Given the description of an element on the screen output the (x, y) to click on. 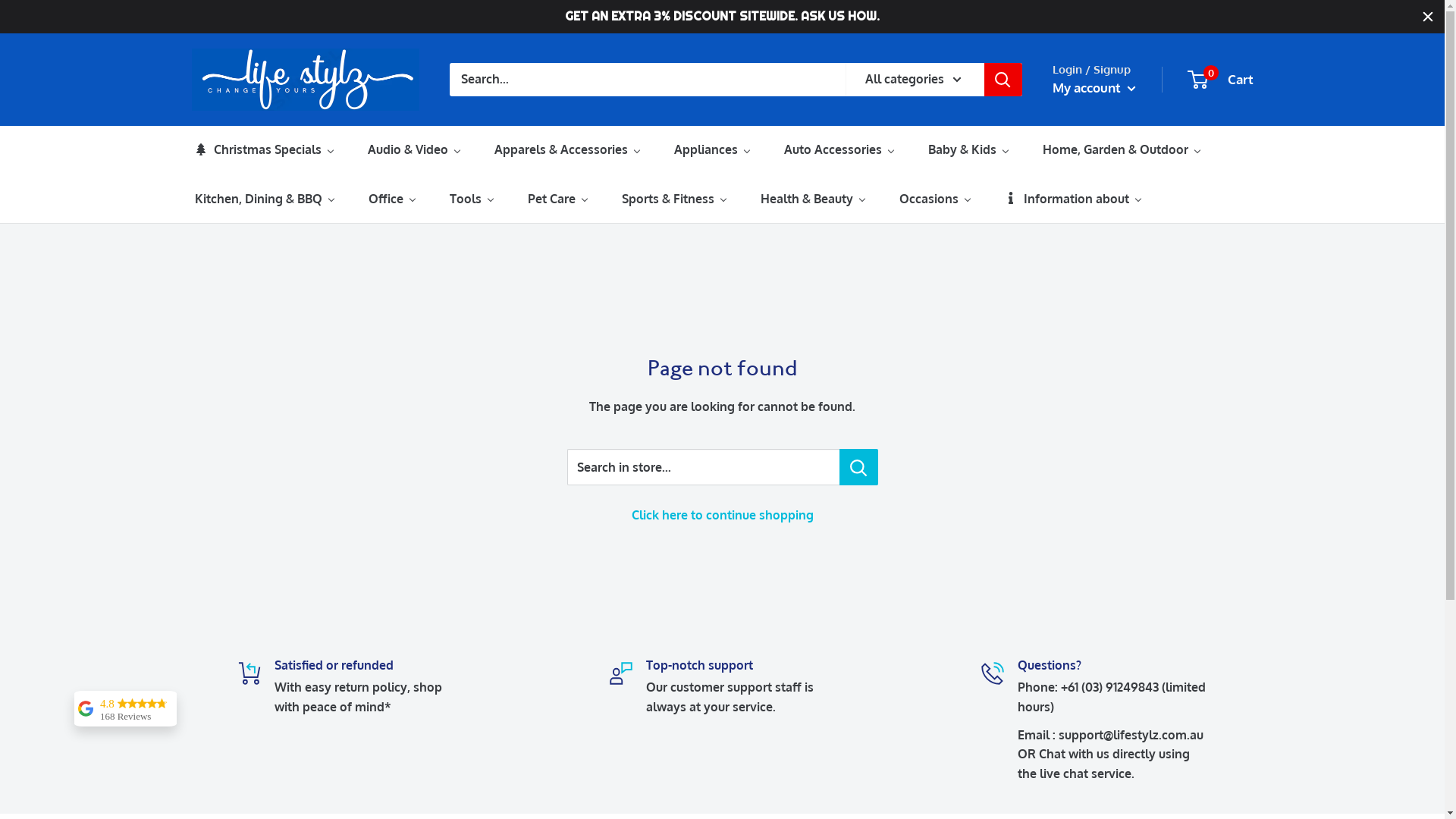
Christmas Specials Element type: text (264, 149)
Pet Care Element type: text (558, 198)
Appliances Element type: text (711, 149)
Baby & Kids Element type: text (969, 149)
Audio & Video Element type: text (414, 149)
Sports & Fitness Element type: text (674, 198)
LifeStylz Element type: text (304, 79)
Apparels & Accessories Element type: text (567, 149)
Tools Element type: text (471, 198)
Information about Element type: text (1073, 198)
Auto Accessories Element type: text (839, 149)
My account Element type: text (1093, 87)
0
Cart Element type: text (1221, 79)
Office Element type: text (392, 198)
Health & Beauty Element type: text (812, 198)
Kitchen, Dining & BBQ Element type: text (264, 198)
Occasions Element type: text (935, 198)
Home, Garden & Outdoor Element type: text (1121, 149)
Click here to continue shopping Element type: text (721, 514)
